Given the description of an element on the screen output the (x, y) to click on. 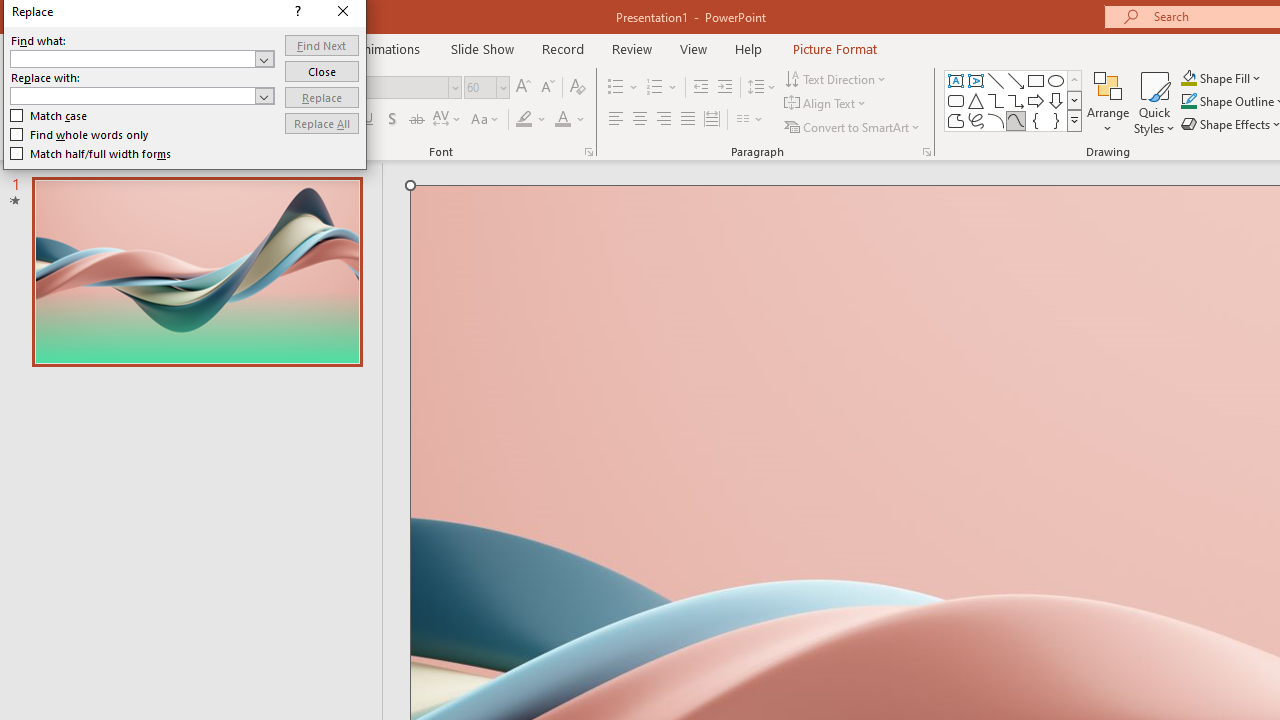
Rectangle (1035, 80)
Text Highlight Color Yellow (524, 119)
Isosceles Triangle (975, 100)
Align Left (616, 119)
Line Spacing (762, 87)
Distributed (712, 119)
Bullets (616, 87)
Connector: Elbow Arrow (1016, 100)
Strikethrough (416, 119)
Justify (687, 119)
Align Text (826, 103)
Left Brace (1035, 120)
Match case (49, 115)
Numbering (661, 87)
Font Color (569, 119)
